Given the description of an element on the screen output the (x, y) to click on. 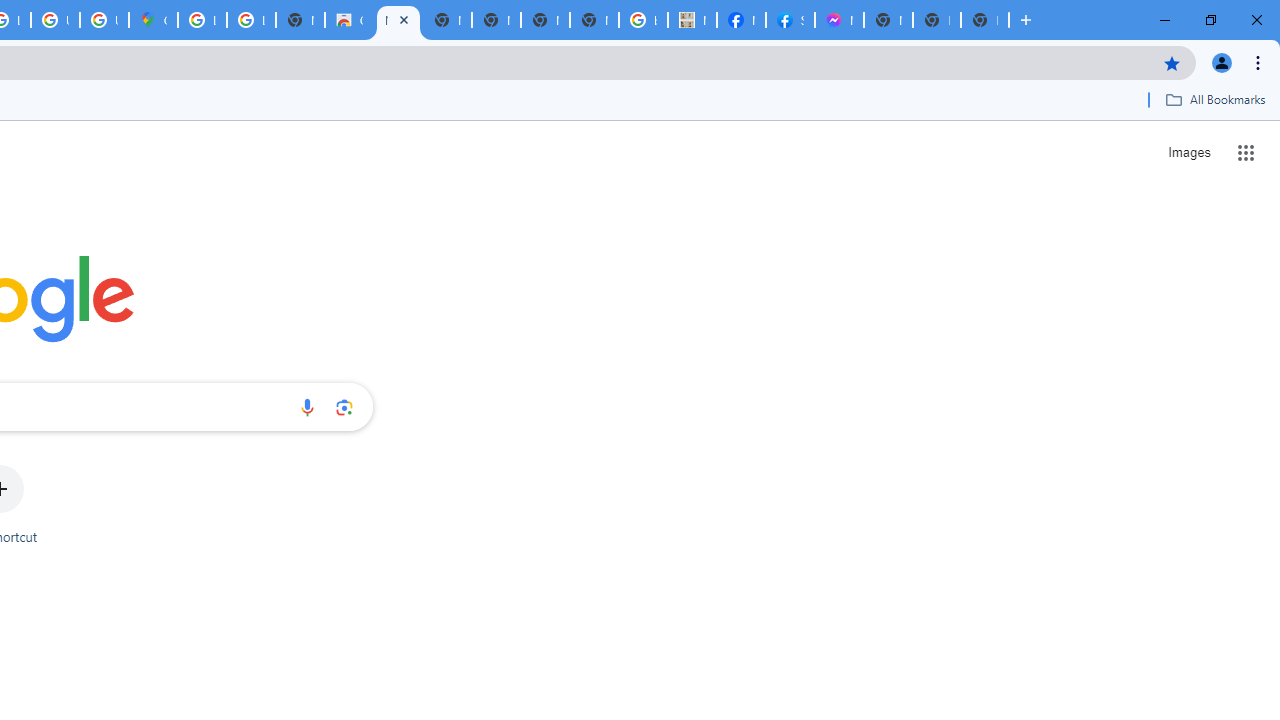
Messenger (839, 20)
New Tab (984, 20)
Chrome Web Store (349, 20)
Sign Up for Facebook (790, 20)
